Given the description of an element on the screen output the (x, y) to click on. 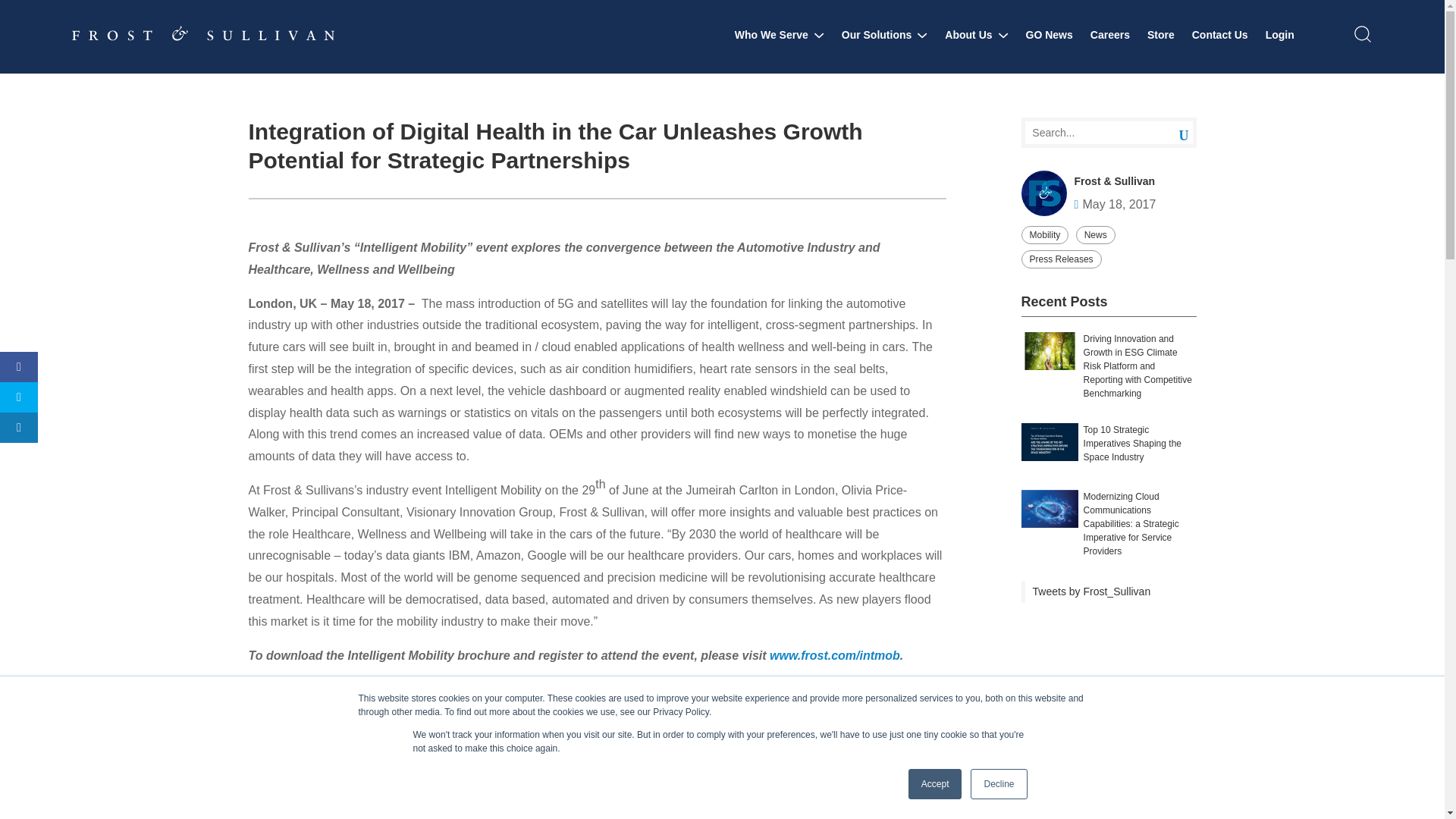
Search (1172, 132)
Decline (998, 784)
Who We Serve (779, 35)
Accept (935, 784)
